Given the description of an element on the screen output the (x, y) to click on. 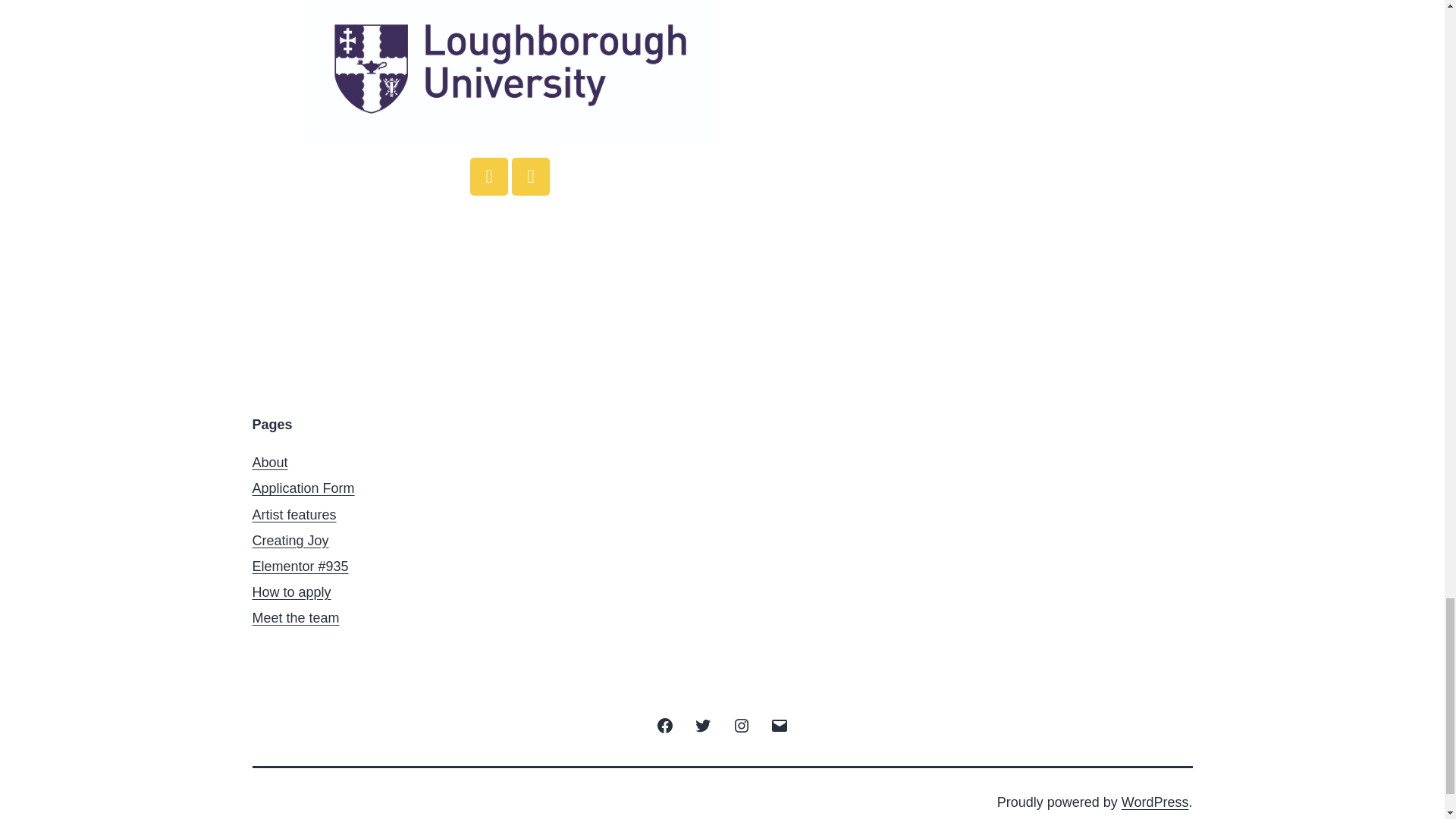
Application Form (302, 488)
About (268, 462)
How to apply (290, 591)
Creating Joy (290, 540)
Meet the team (295, 617)
Artist features (293, 513)
WordPress (1155, 801)
